Given the description of an element on the screen output the (x, y) to click on. 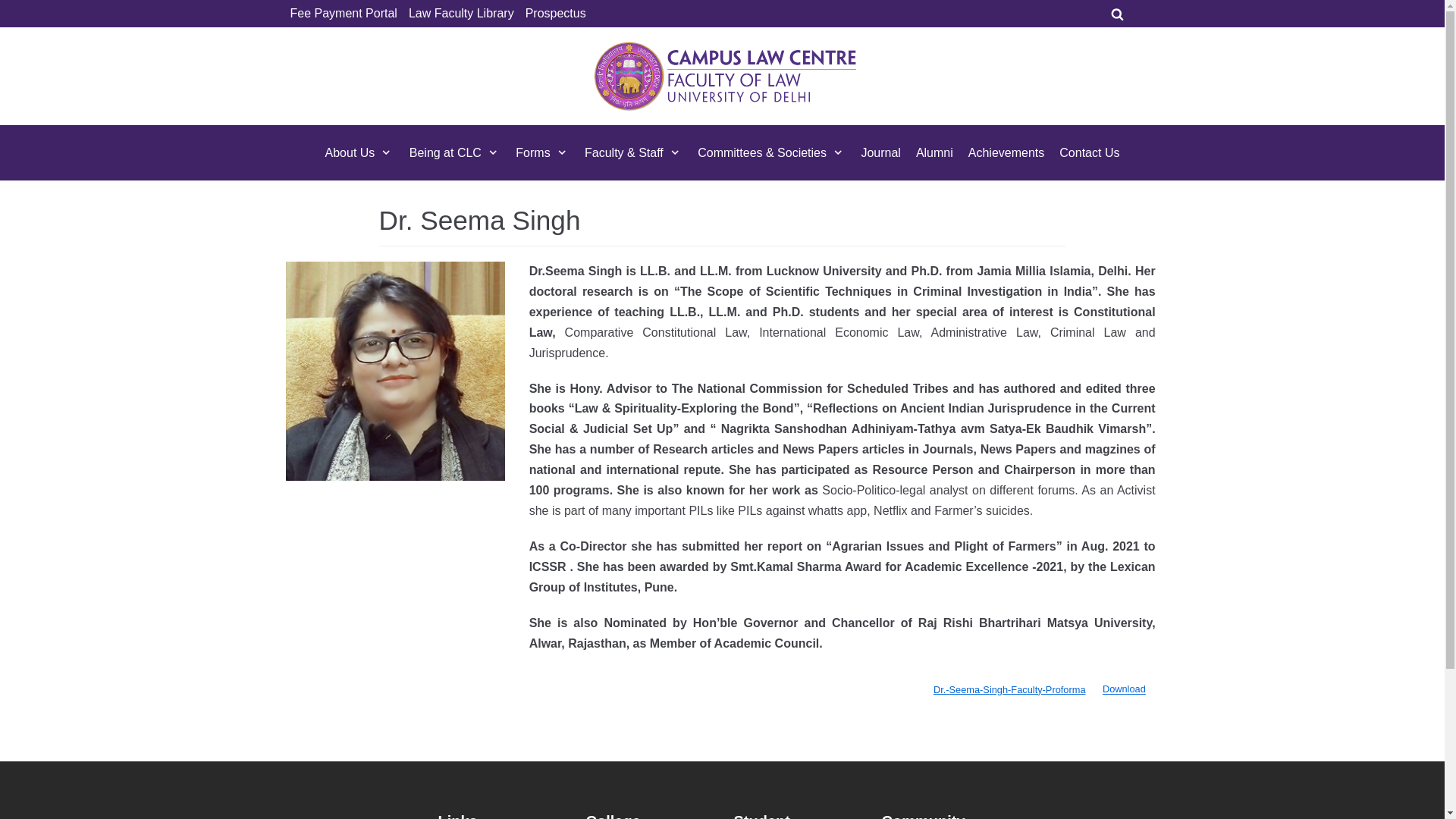
Prospectus (555, 13)
Skip to content (15, 7)
Search (1235, 409)
Forms (542, 152)
Law Faculty Library (461, 13)
Being at CLC (454, 152)
Campus Law Centre (724, 75)
Fee Payment Portal (342, 13)
About Us (359, 152)
